Given the description of an element on the screen output the (x, y) to click on. 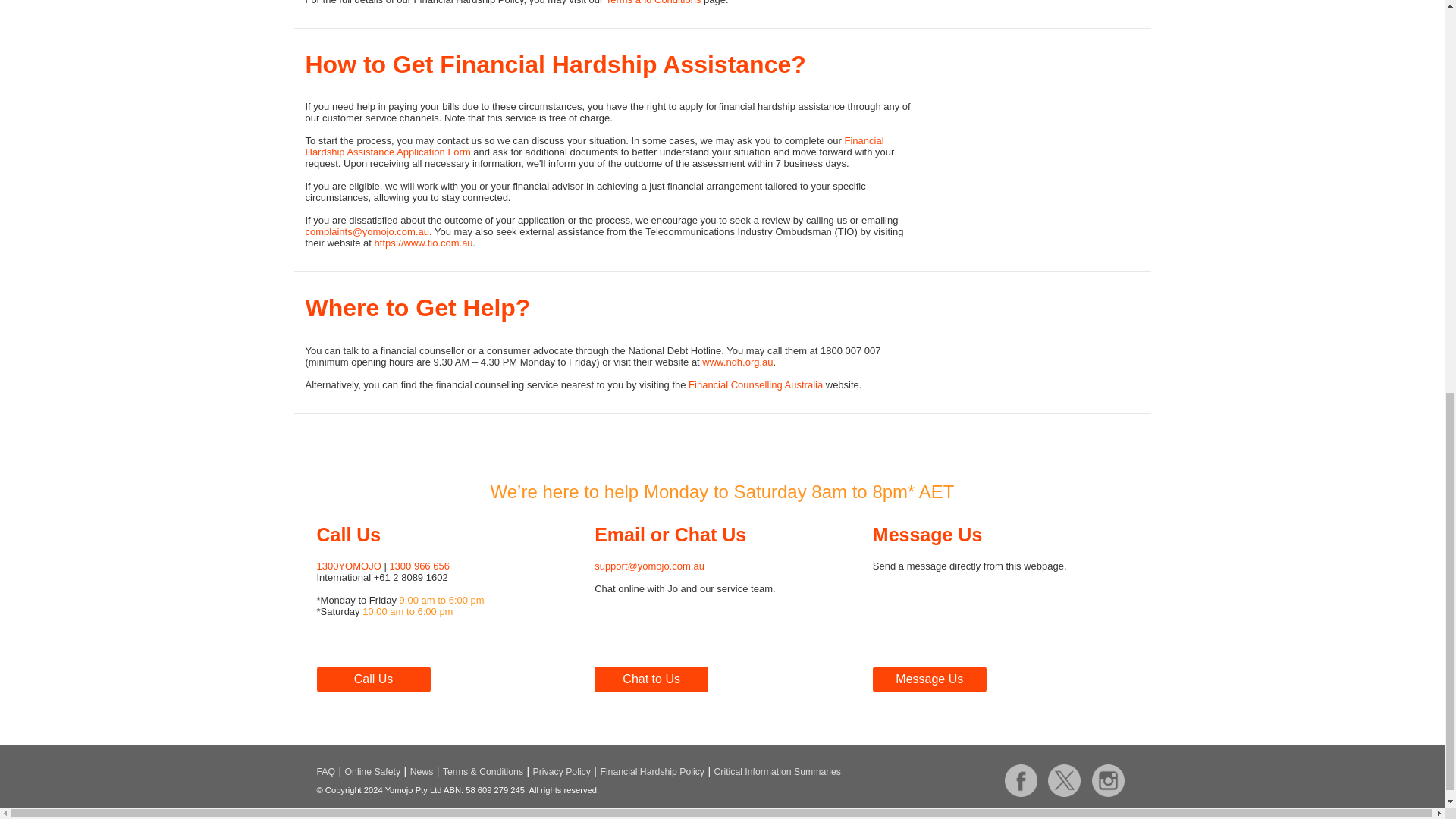
www.ndh.org.au (737, 361)
Terms and Conditions (653, 2)
Financial Counselling Australia (755, 384)
1300YOMOJO (349, 565)
Financial Hardship Assistance Application Form (593, 146)
